Given the description of an element on the screen output the (x, y) to click on. 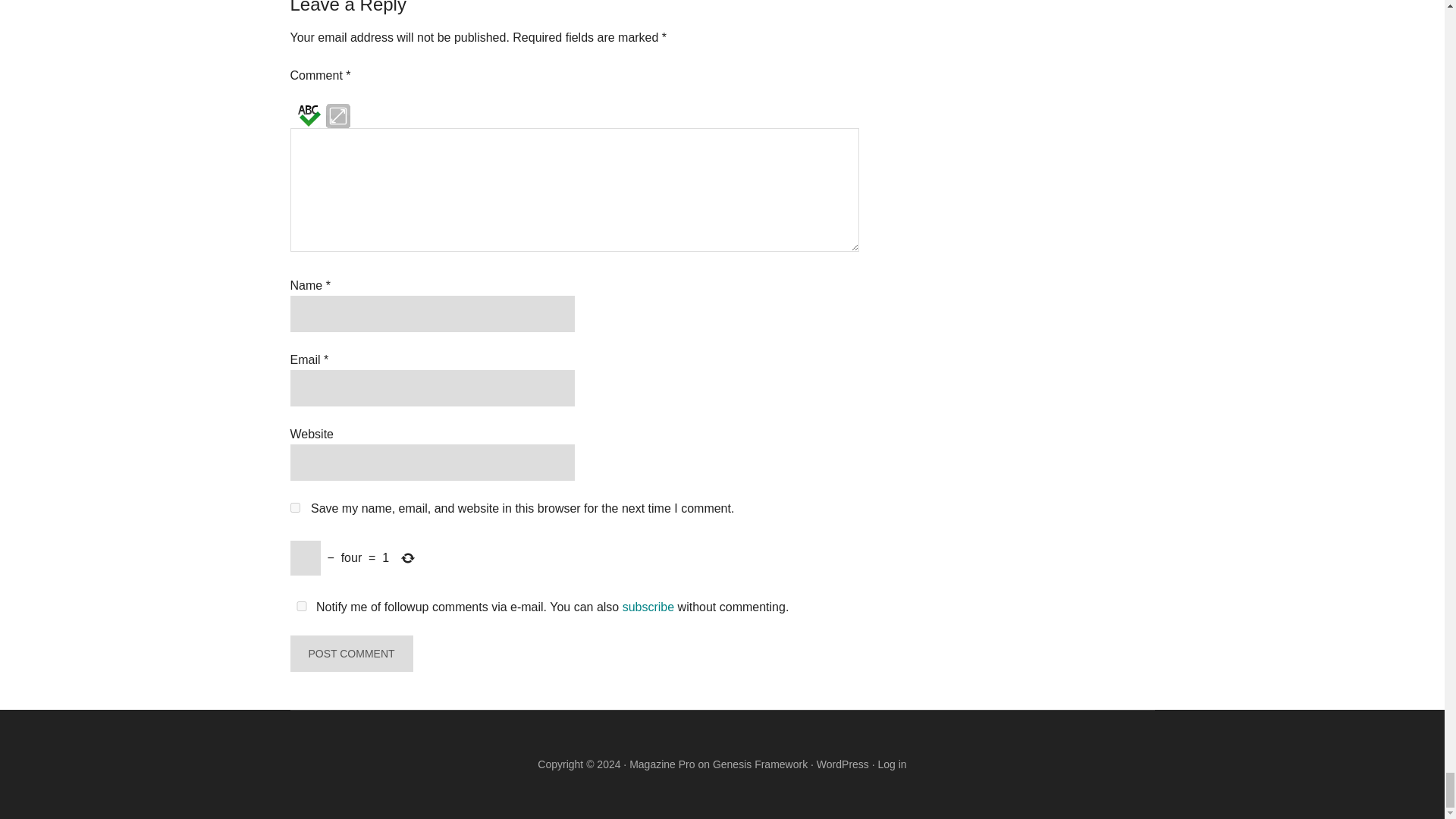
Post Comment (350, 653)
yes (294, 507)
yes (301, 605)
